Given the description of an element on the screen output the (x, y) to click on. 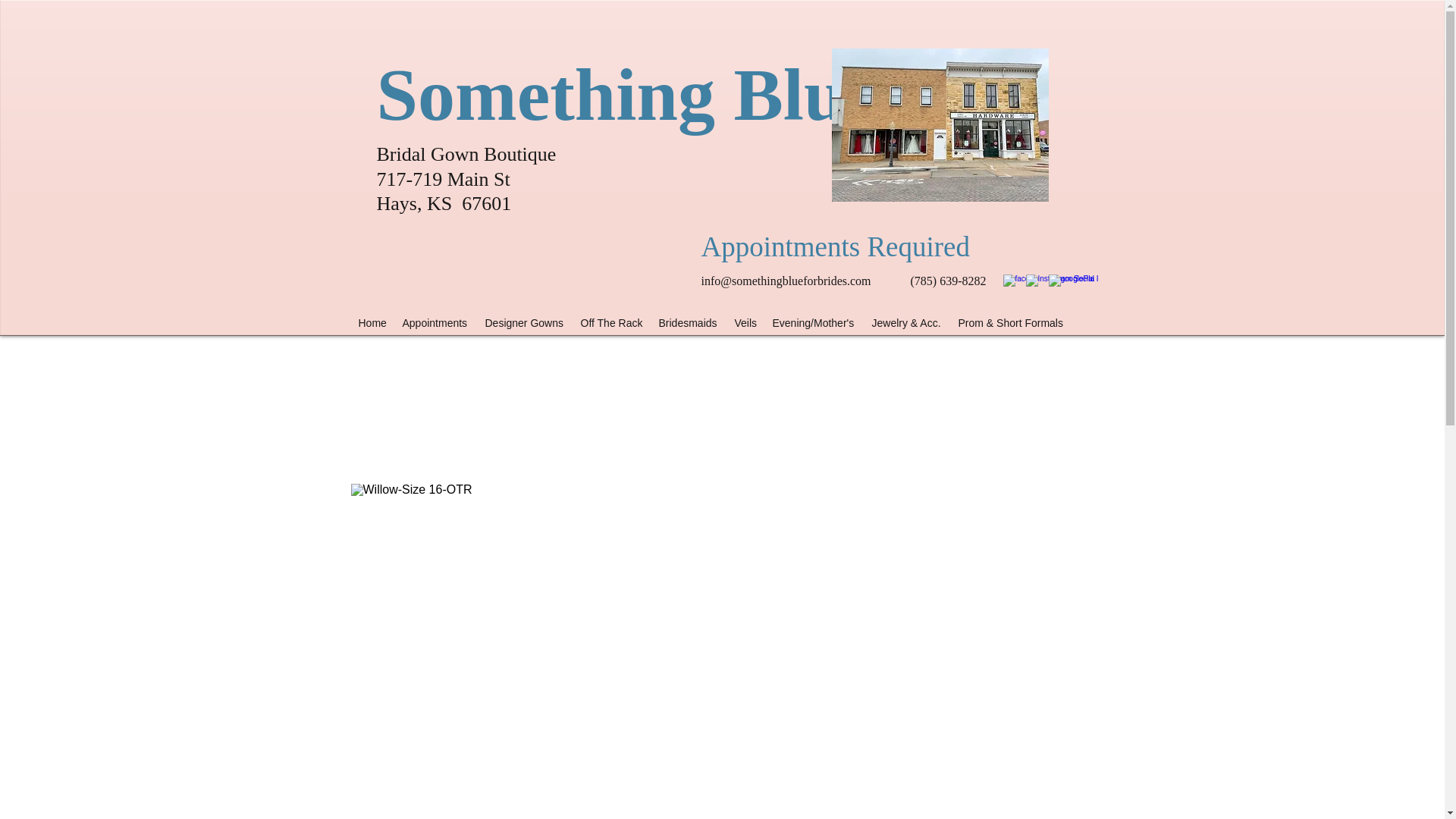
Appointments (435, 323)
Veils (745, 323)
Home (372, 323)
Off The Rack (611, 323)
Designer Gowns (525, 323)
Bridesmaids (688, 323)
